Given the description of an element on the screen output the (x, y) to click on. 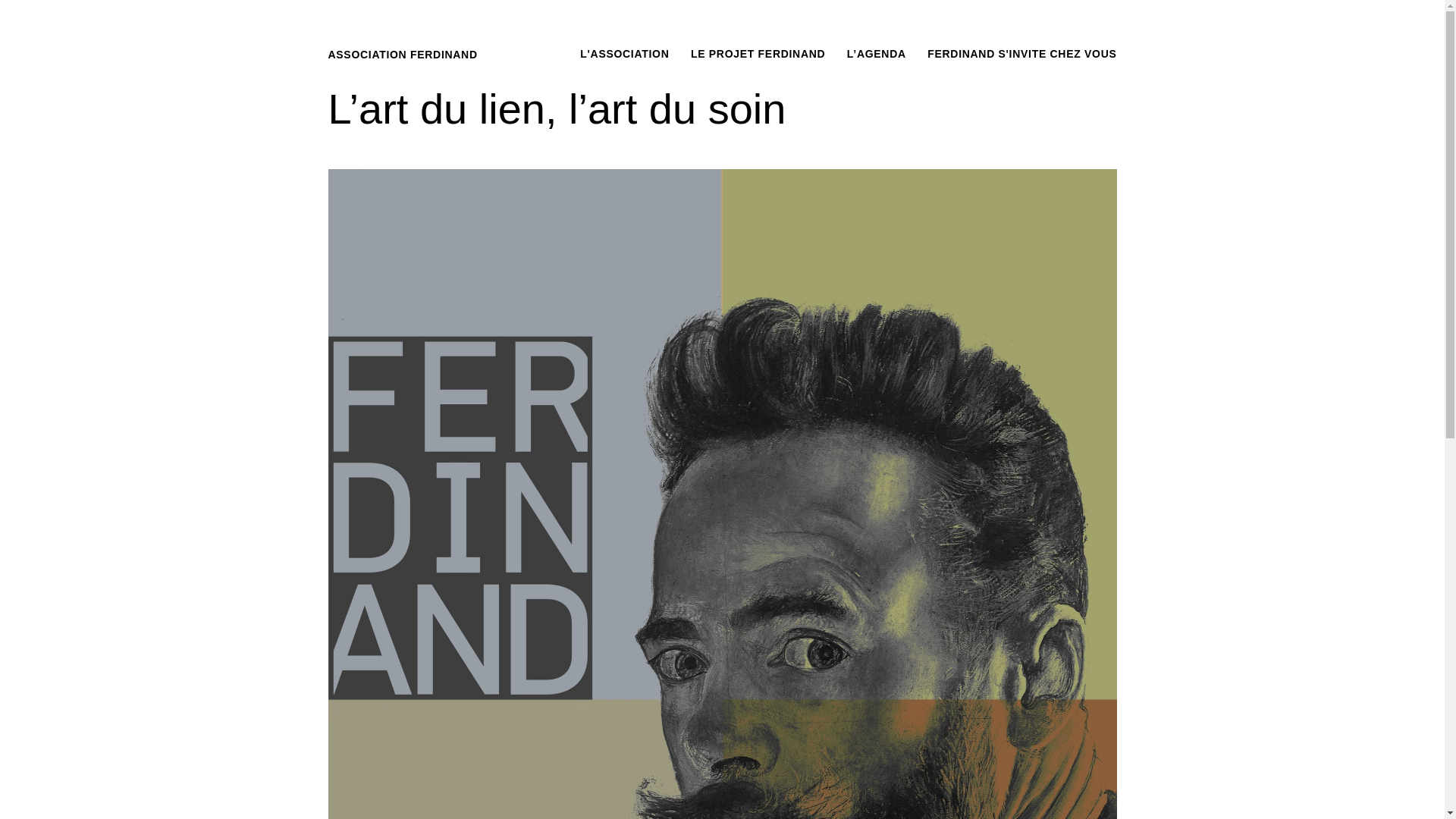
LE PROJET FERDINAND Element type: text (757, 53)
FERDINAND S'INVITE CHEZ VOUS Element type: text (1021, 53)
L'ASSOCIATION Element type: text (624, 53)
ASSOCIATION FERDINAND Element type: text (401, 54)
